Given the description of an element on the screen output the (x, y) to click on. 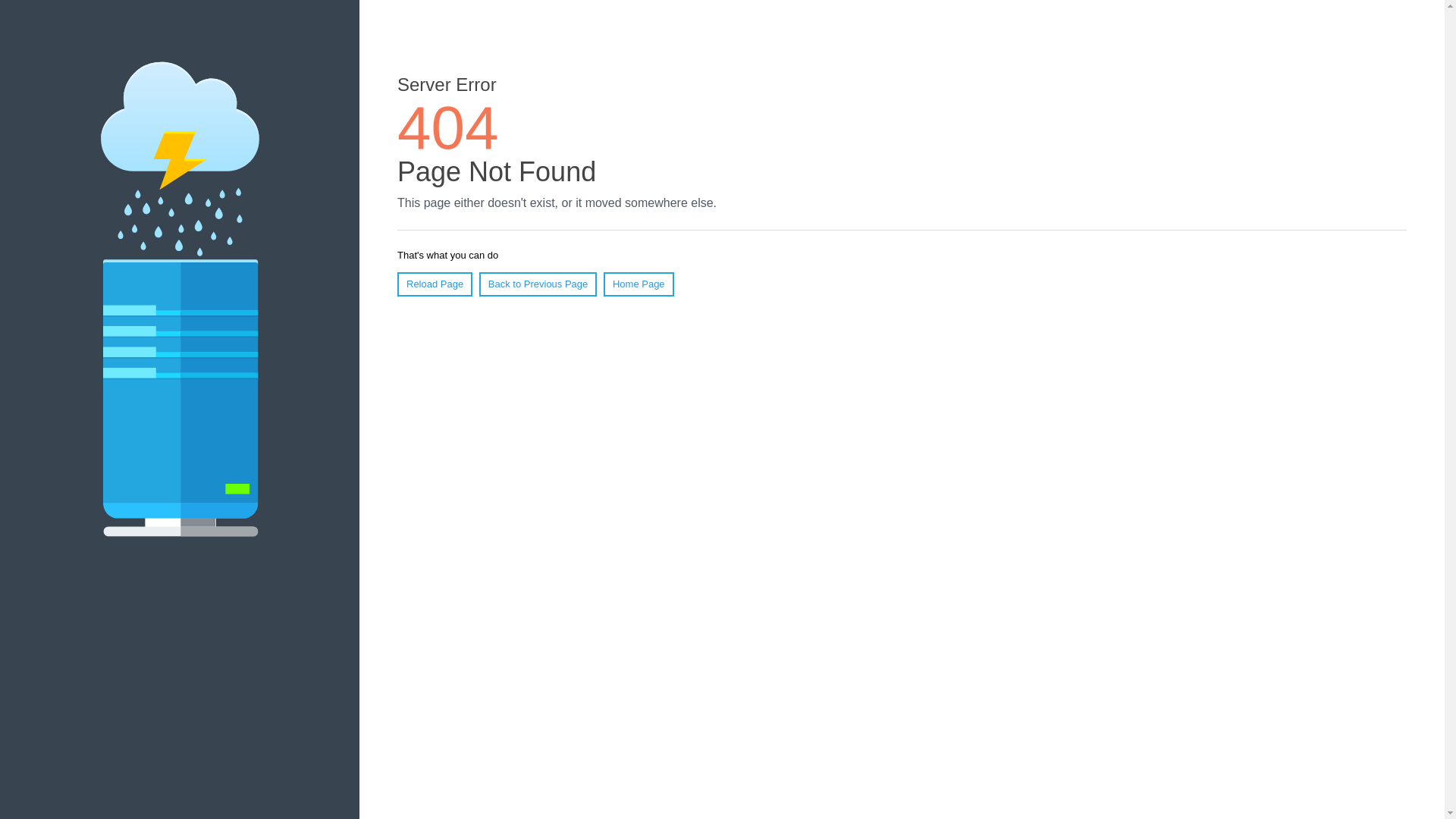
Reload Page Element type: text (434, 284)
Home Page Element type: text (638, 284)
Back to Previous Page Element type: text (538, 284)
